Given the description of an element on the screen output the (x, y) to click on. 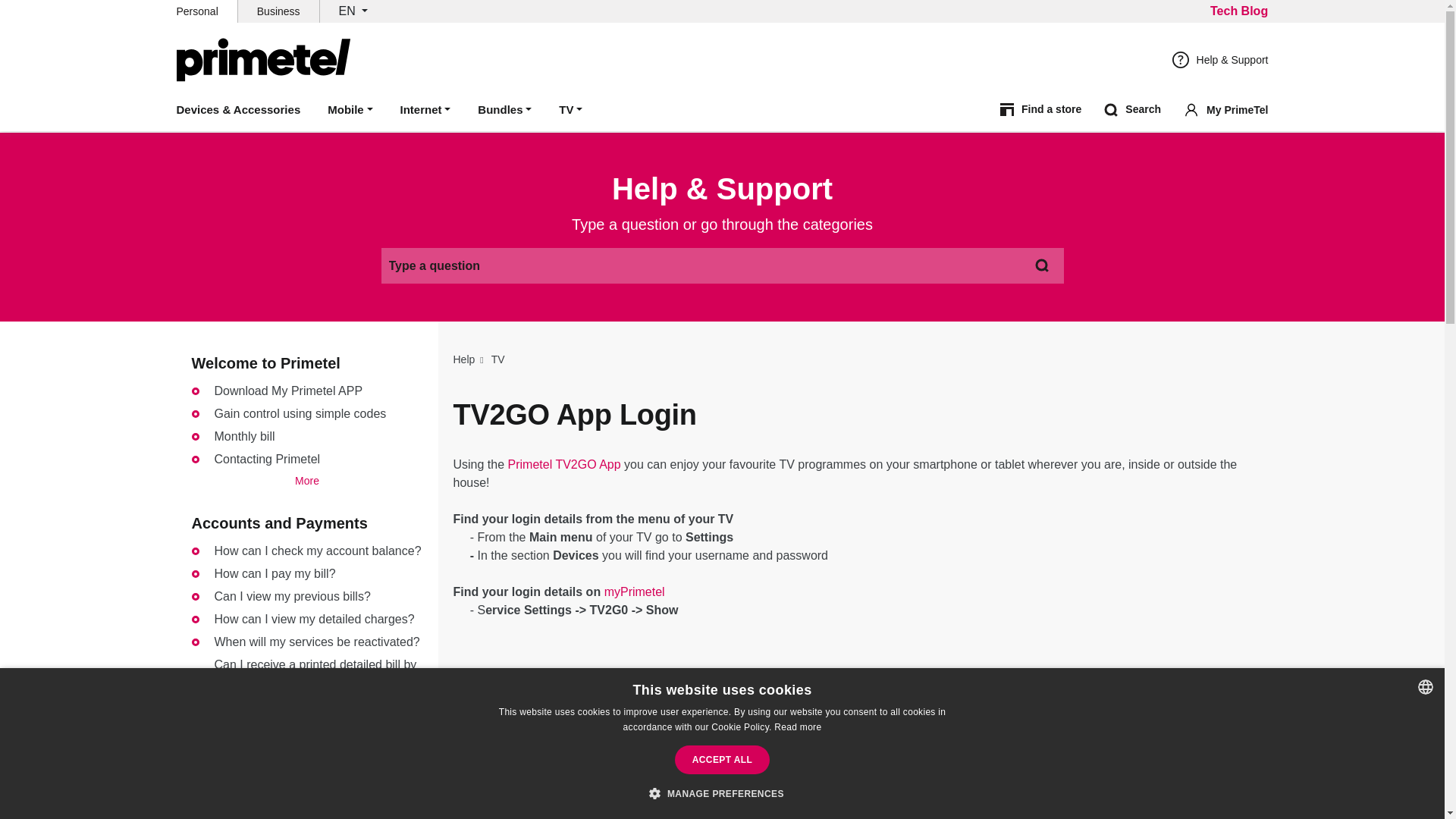
Personal (196, 10)
Business (278, 10)
Personal (196, 10)
primetel homepage (263, 59)
Tech Blog (1238, 11)
Business (278, 10)
Mobile (349, 110)
Internet (425, 110)
Mobile (349, 110)
